Given the description of an element on the screen output the (x, y) to click on. 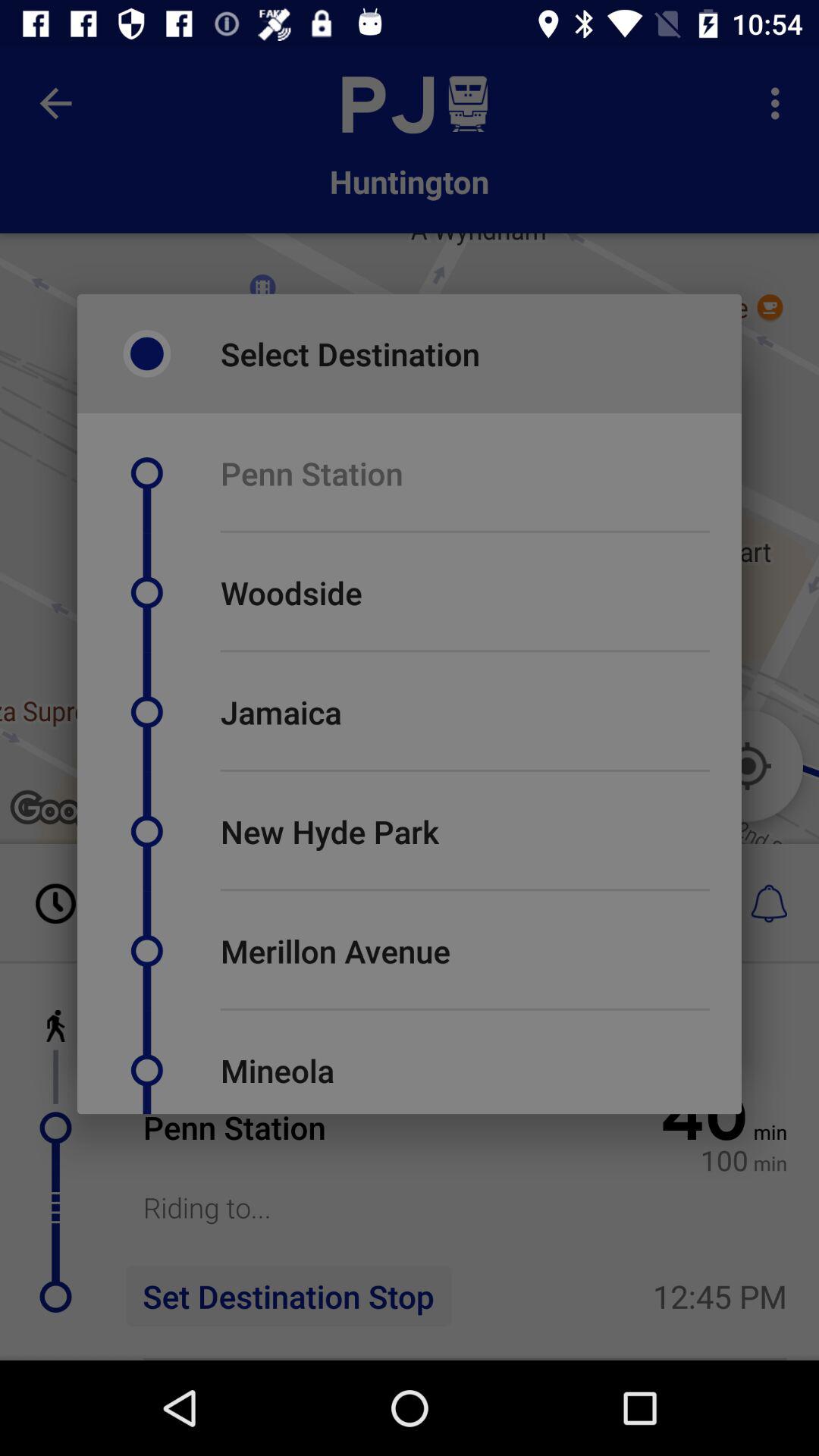
press item above merillon avenue item (464, 889)
